Given the description of an element on the screen output the (x, y) to click on. 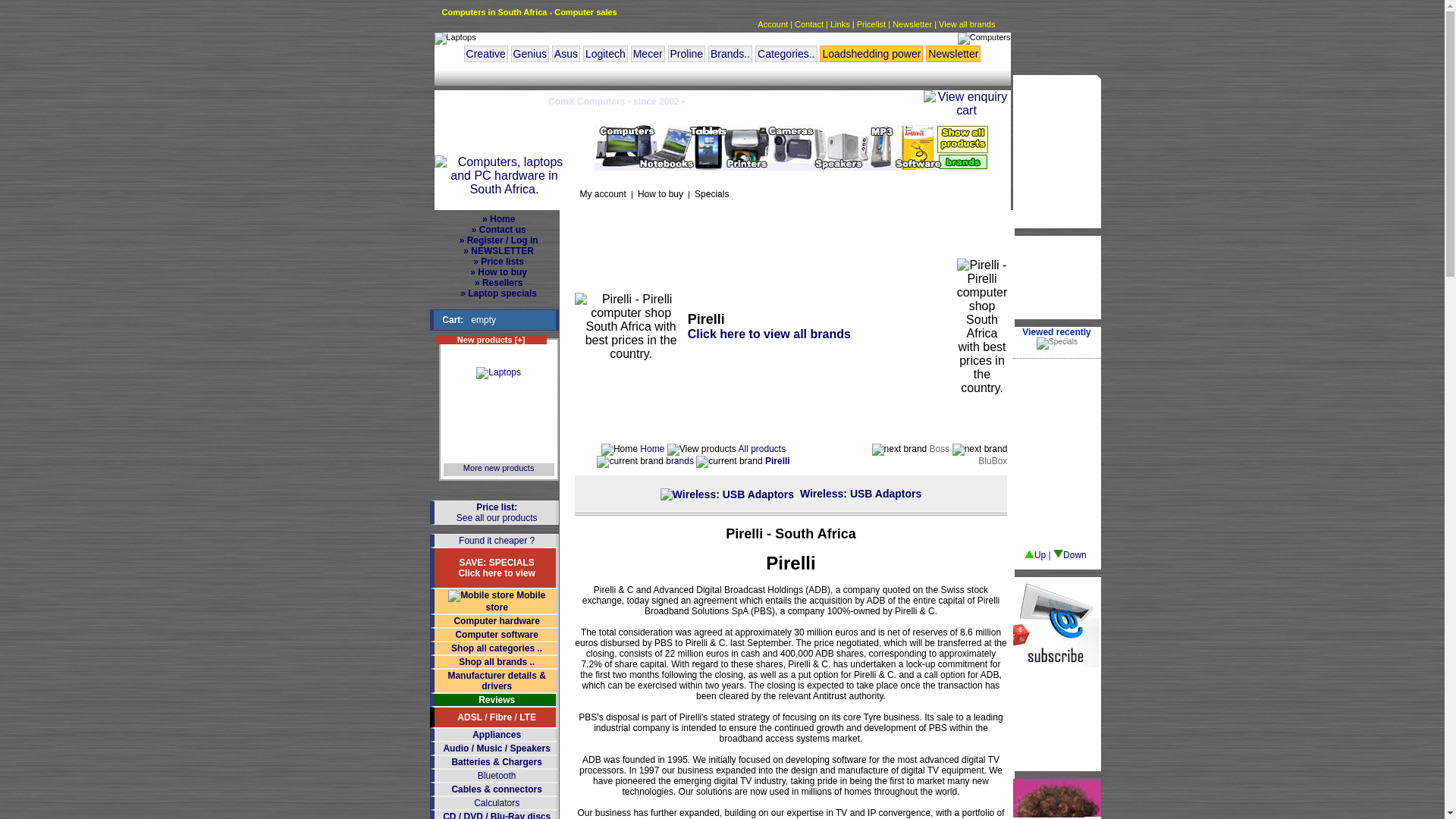
Genius (529, 53)
Categories.. (785, 53)
Up (1035, 554)
home (699, 101)
Proline (685, 53)
Brands.. (729, 53)
Newsletter (911, 23)
Bluetooth (496, 775)
Calculators (496, 802)
Down (1069, 554)
Account (772, 23)
Loadshedding power (871, 53)
Search (903, 196)
My account (602, 194)
Search (903, 196)
